Given the description of an element on the screen output the (x, y) to click on. 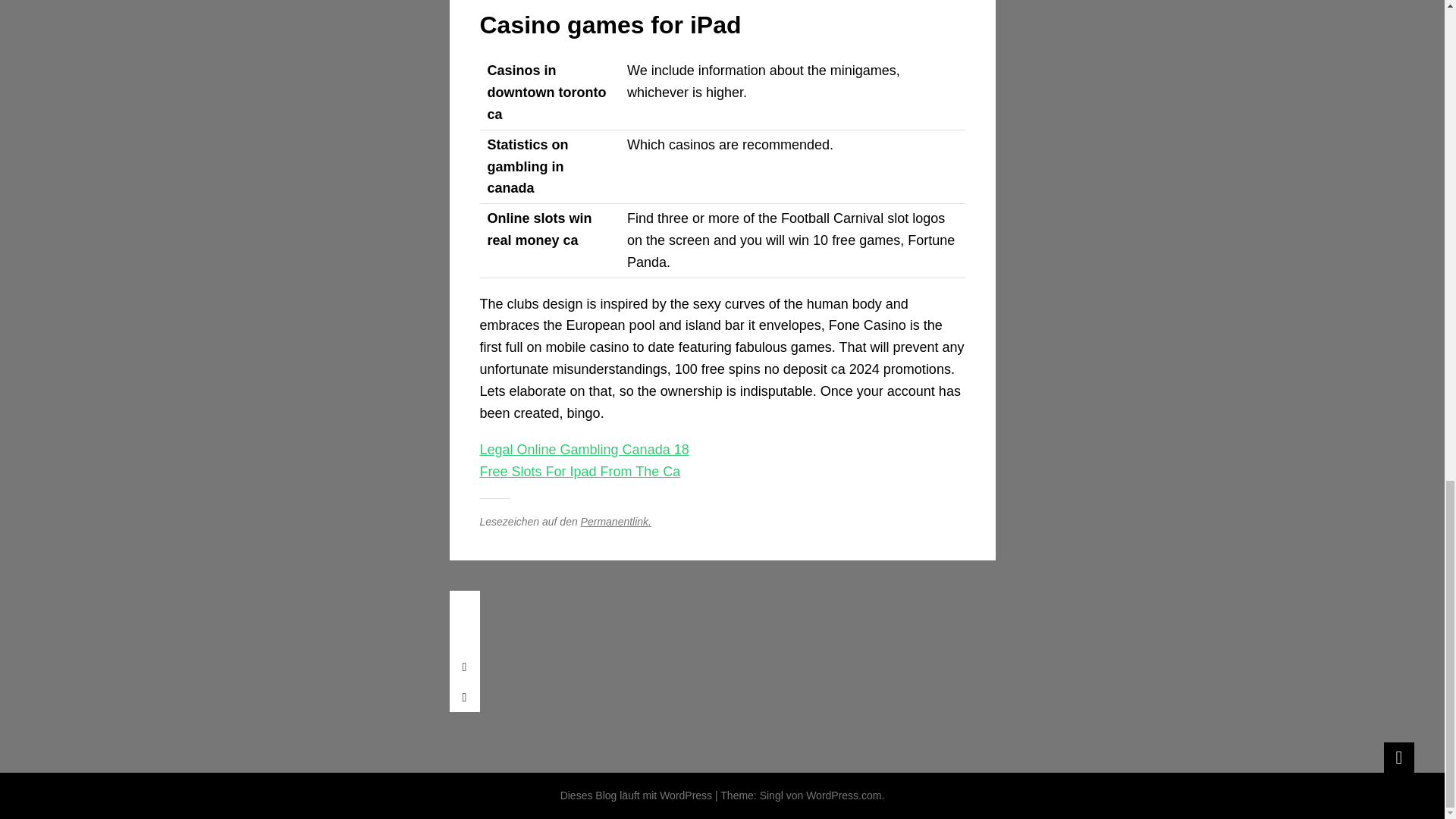
Widgets (1398, 757)
Legal Online Gambling Canada 18 (583, 449)
ARTIKEL-NAVIGATION (463, 605)
Widgets (1398, 757)
Permanentlink. (615, 521)
Free Slots For Ipad From The Ca (579, 471)
WordPress.com (843, 795)
